Given the description of an element on the screen output the (x, y) to click on. 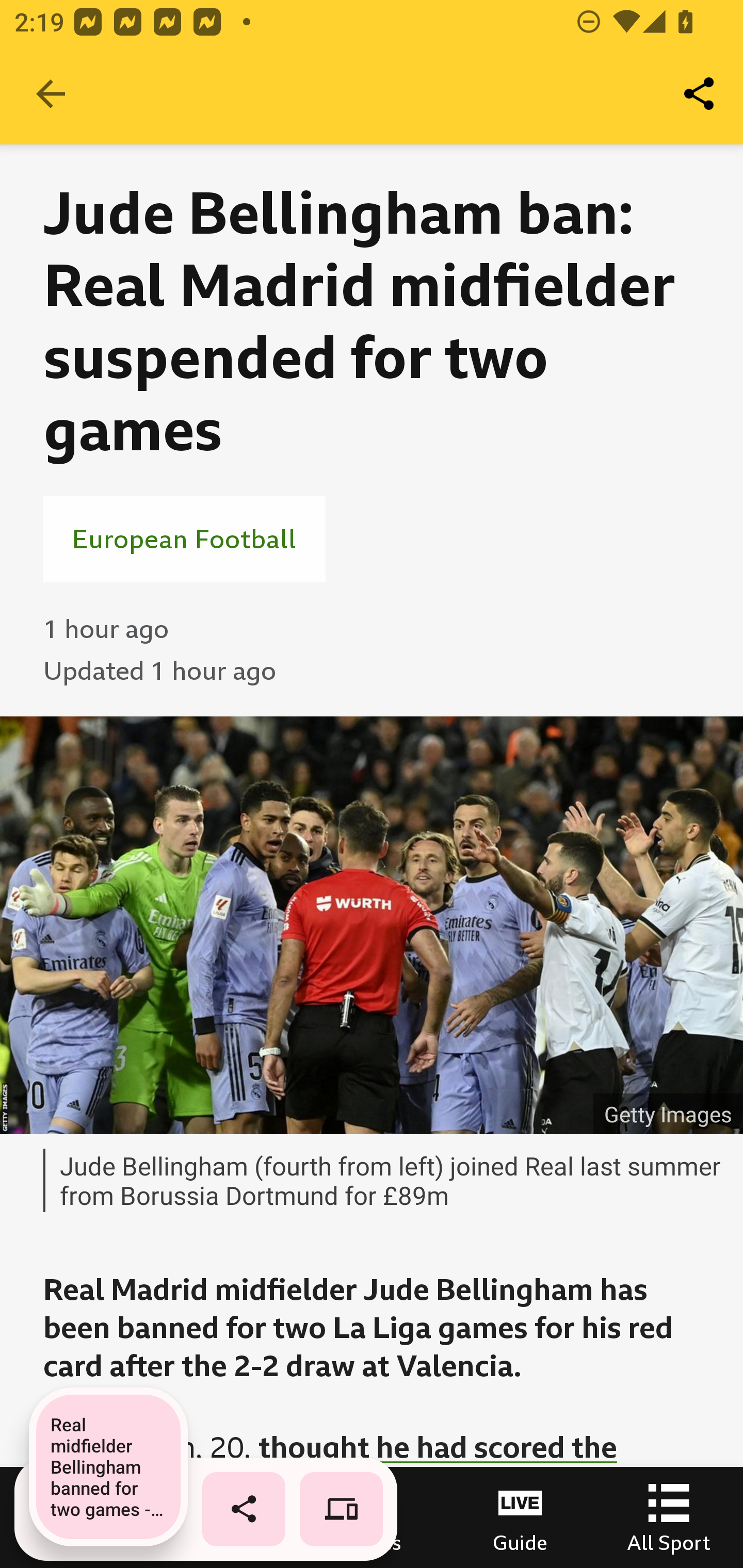
Navigate up (50, 93)
Share (699, 93)
European Football (184, 538)
My Sport (222, 1517)
Scores (371, 1517)
Guide (519, 1517)
All Sport (668, 1517)
